Given the description of an element on the screen output the (x, y) to click on. 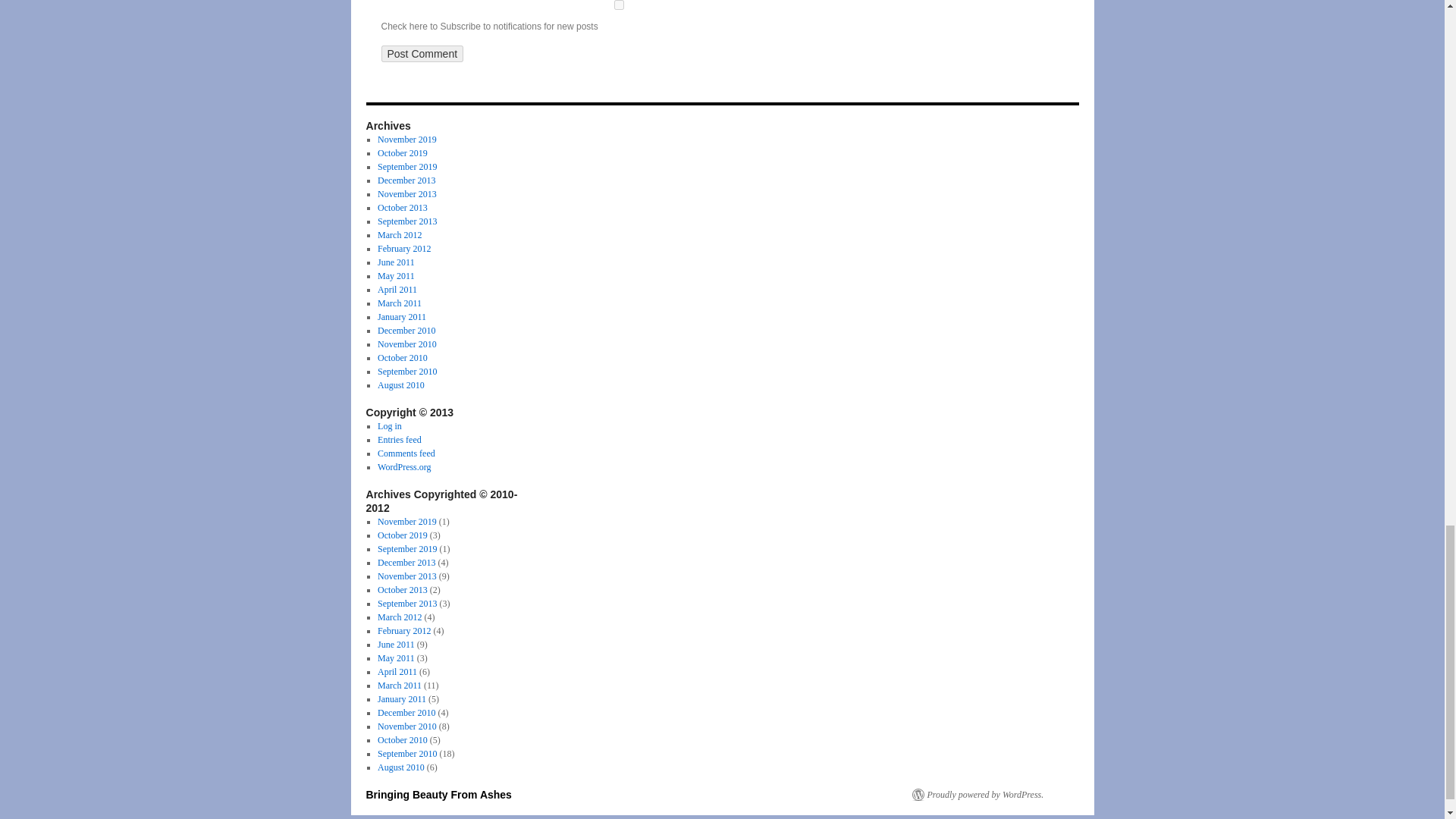
Post Comment (421, 53)
Post Comment (421, 53)
1 (618, 4)
